Given the description of an element on the screen output the (x, y) to click on. 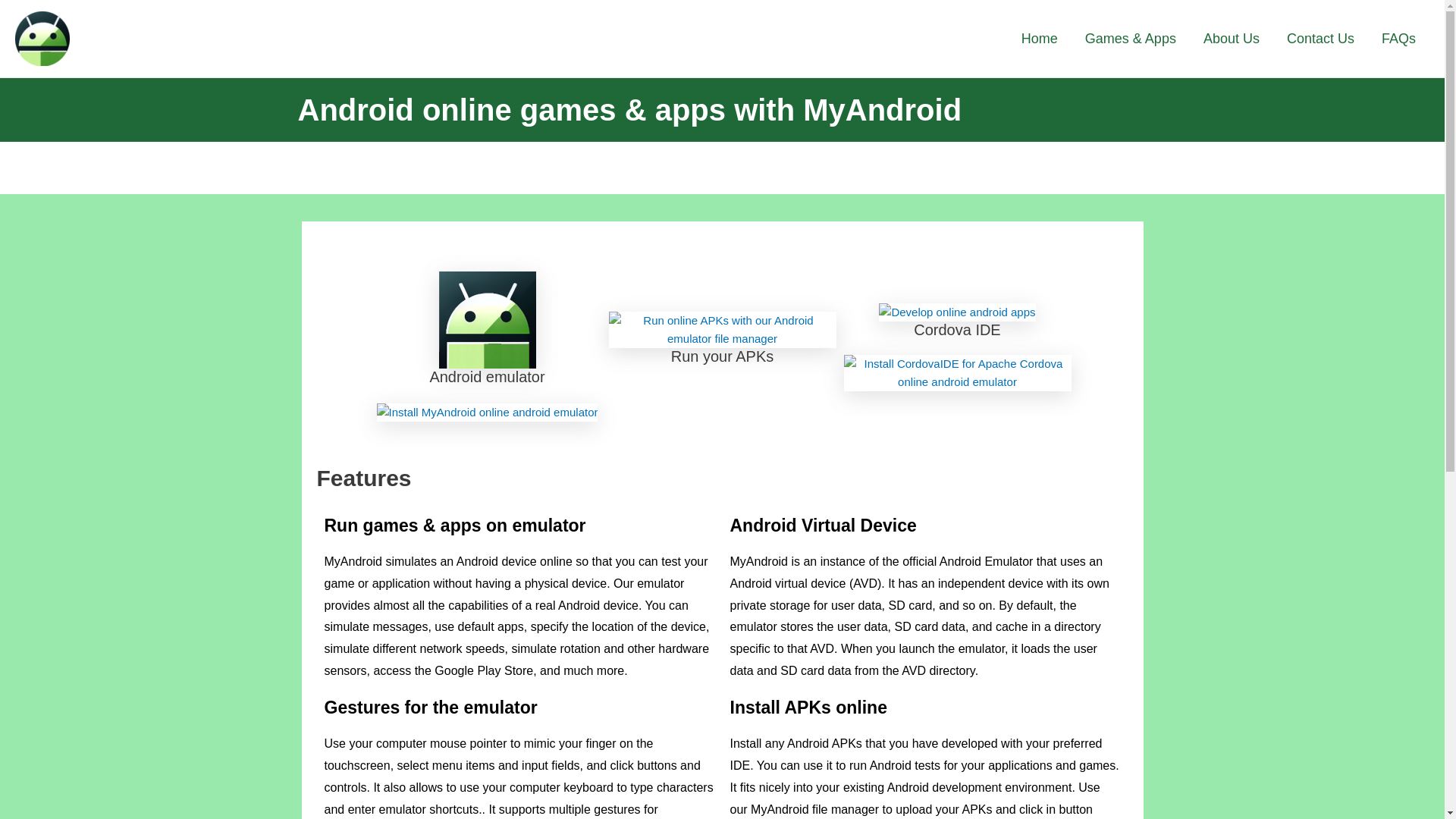
About Us (1230, 38)
Home (1039, 38)
FAQs (1398, 38)
Contact Us (1320, 38)
